Given the description of an element on the screen output the (x, y) to click on. 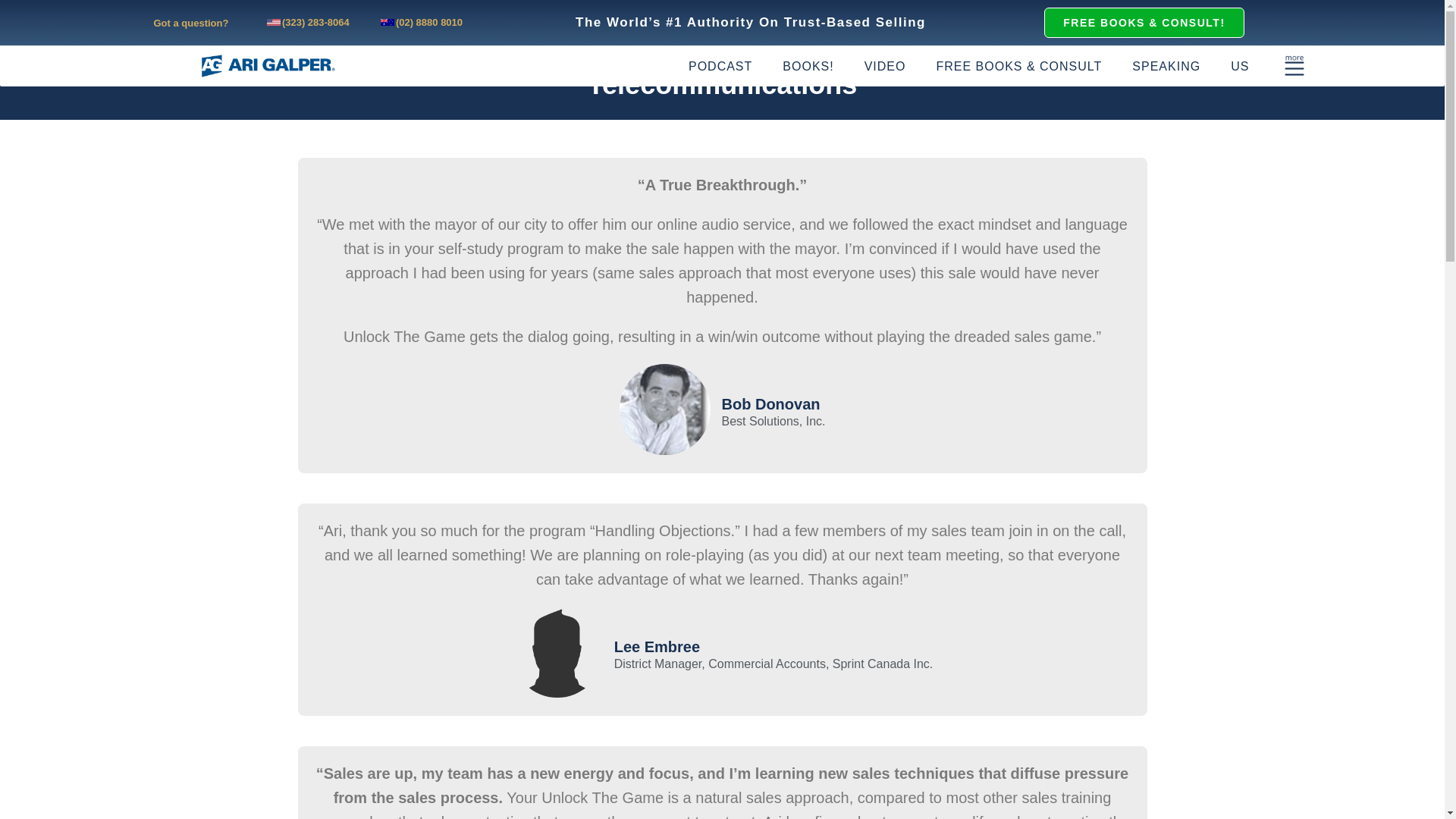
US (1239, 66)
SPEAKING (1165, 66)
VIDEO (884, 66)
PODCAST (719, 66)
BOOKS! (807, 66)
